Given the description of an element on the screen output the (x, y) to click on. 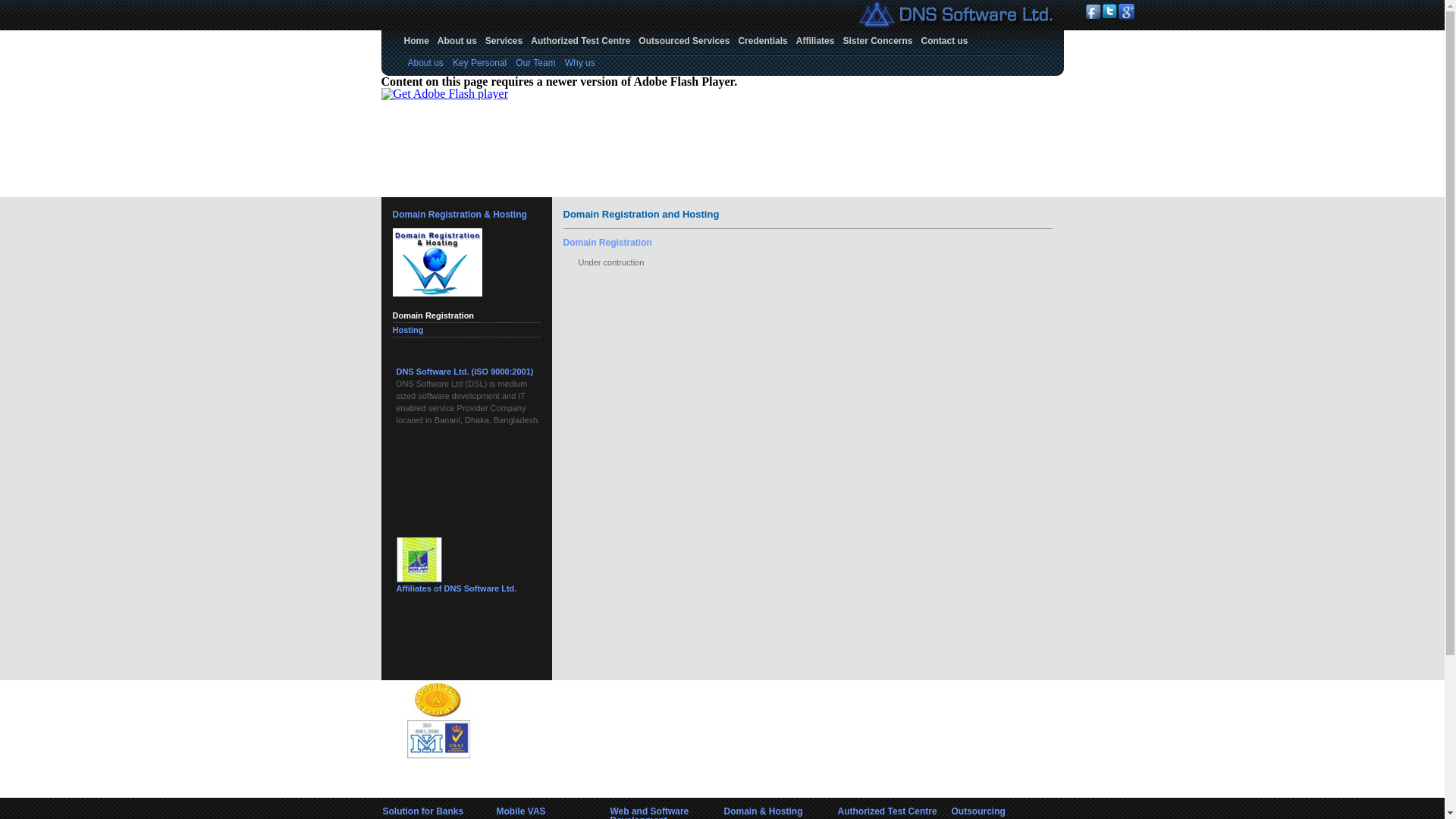
About us Element type: text (456, 40)
Why us Element type: text (579, 62)
Sister Concerns Element type: text (877, 40)
Domain Registration Element type: text (433, 315)
Credentials Element type: text (762, 40)
Services Element type: text (503, 40)
About us Element type: text (425, 62)
Contact us Element type: text (944, 40)
Key Personal Element type: text (479, 62)
Outsourced Services Element type: text (683, 40)
Mobile Value Added Service (VAS) Element type: text (462, 371)
Hosting Element type: text (407, 329)
Affiliates Element type: text (815, 40)
Our Team Element type: text (535, 62)
Authorized Test Centre Element type: text (580, 40)
Home Element type: text (416, 40)
